Given the description of an element on the screen output the (x, y) to click on. 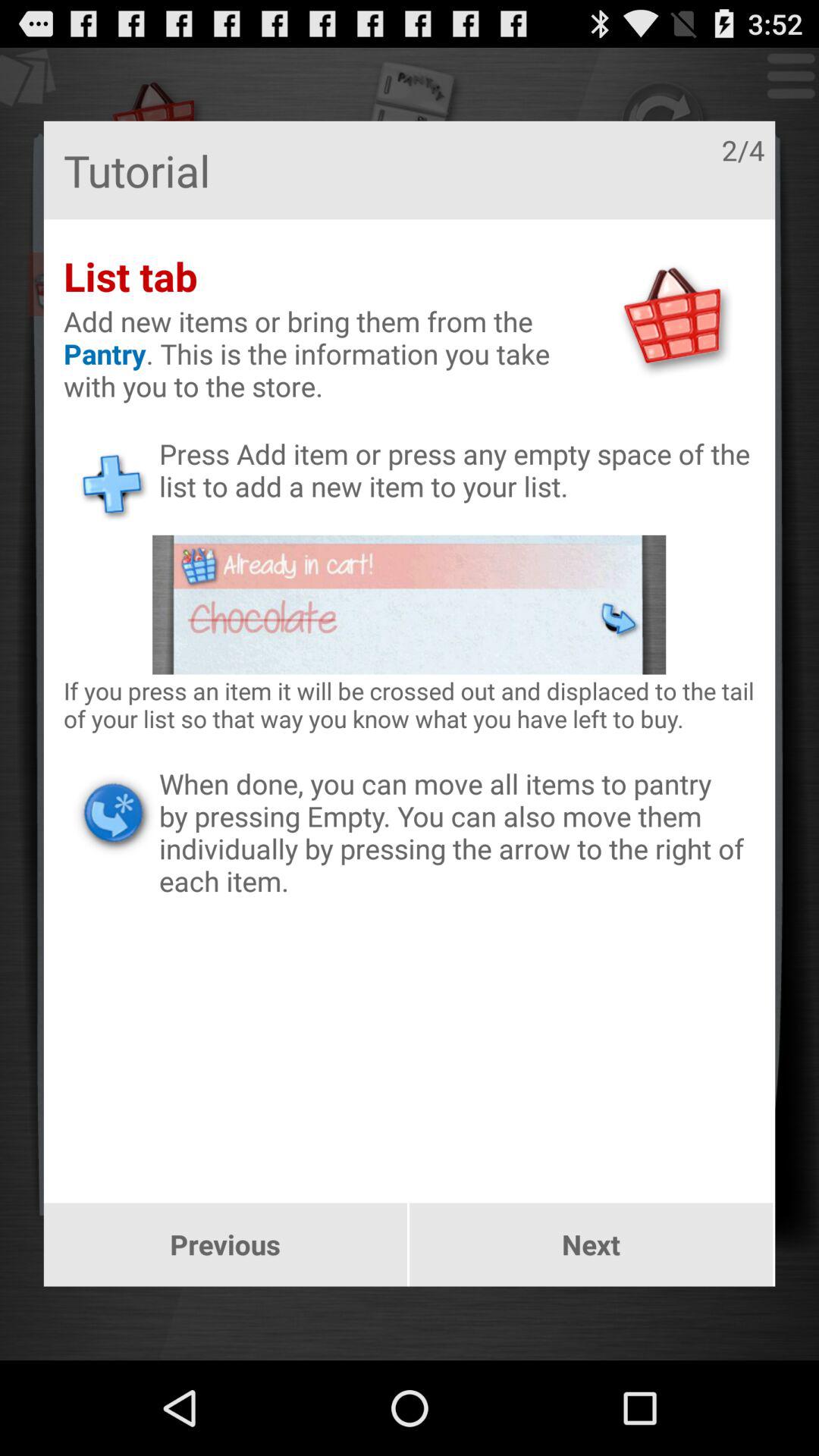
choose the item below when done you icon (225, 1244)
